Given the description of an element on the screen output the (x, y) to click on. 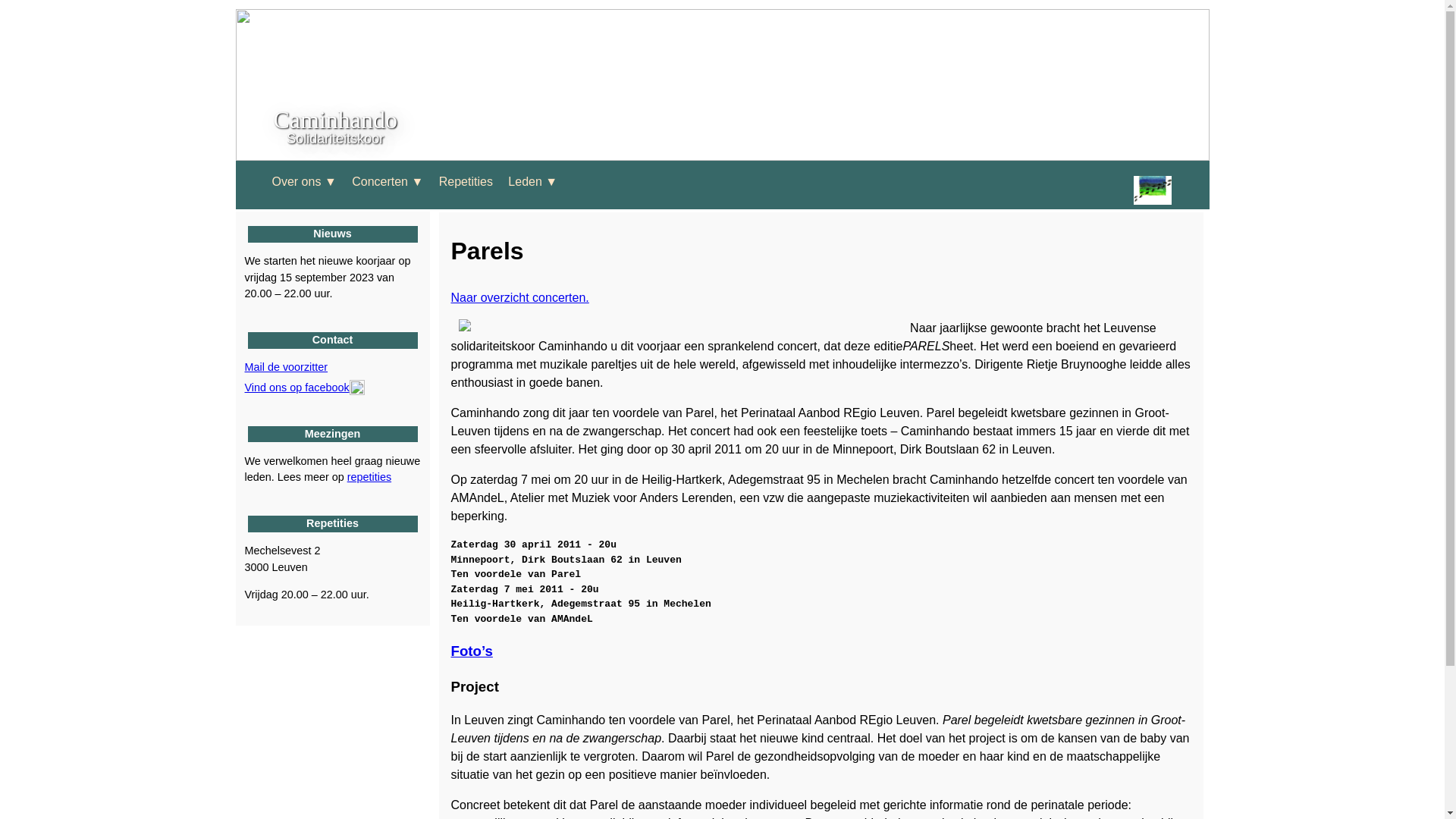
Leden Element type: text (525, 181)
Vind ons op facebook Element type: text (304, 387)
Repetities Element type: text (465, 181)
repetities Element type: text (369, 476)
Mail de voorzitter Element type: text (285, 366)
Naar overzicht concerten. Element type: text (519, 297)
Over ons Element type: text (295, 181)
